Given the description of an element on the screen output the (x, y) to click on. 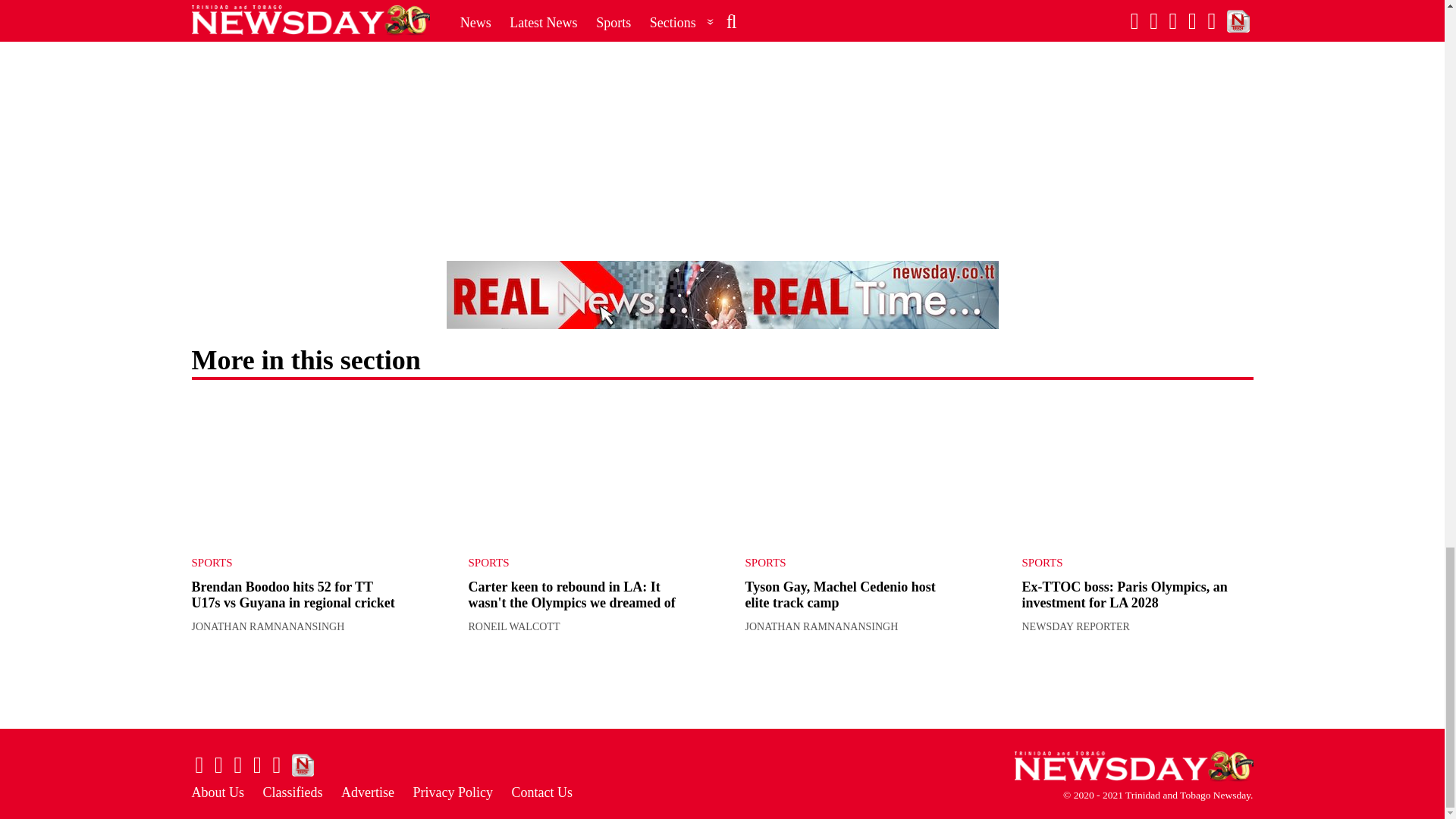
Ex-TTOC boss: Paris Olympics, an investment for LA 2028 (1137, 470)
SPORTS (294, 562)
Tyson Gay, Machel Cedenio host elite track camp (859, 470)
